Given the description of an element on the screen output the (x, y) to click on. 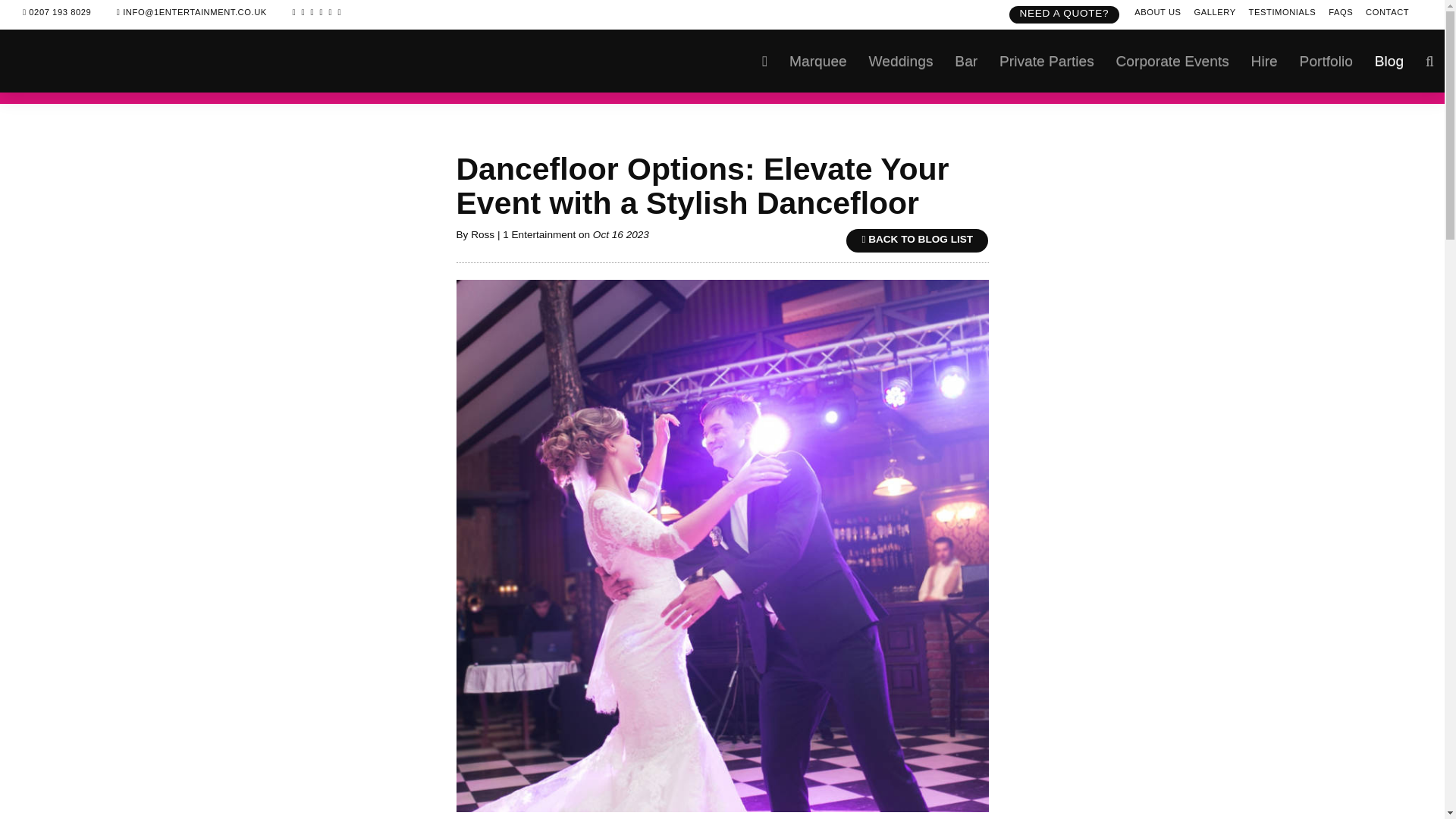
ABOUT US (1157, 11)
Private Parties (1046, 60)
FAQS (1339, 11)
 0207 193 8029 (56, 12)
GALLERY (1213, 11)
Marquee (818, 60)
NEED A QUOTE? (1064, 12)
CONTACT (1387, 11)
Portfolio (1325, 60)
Weddings (900, 60)
TESTIMONIALS (1282, 11)
BACK TO BLOG LIST (916, 240)
Corporate Events (1172, 60)
